Given the description of an element on the screen output the (x, y) to click on. 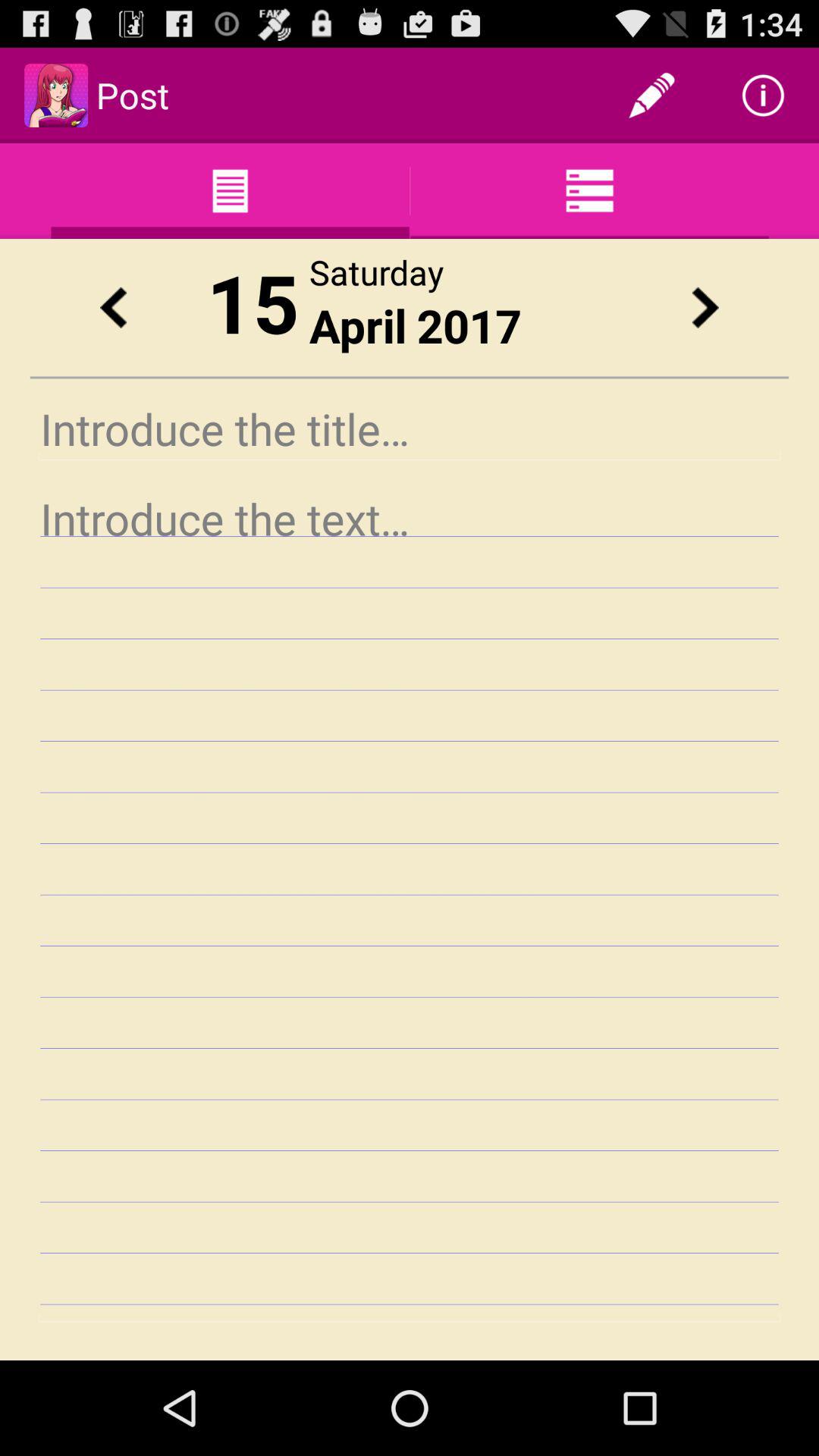
write text title (409, 428)
